Given the description of an element on the screen output the (x, y) to click on. 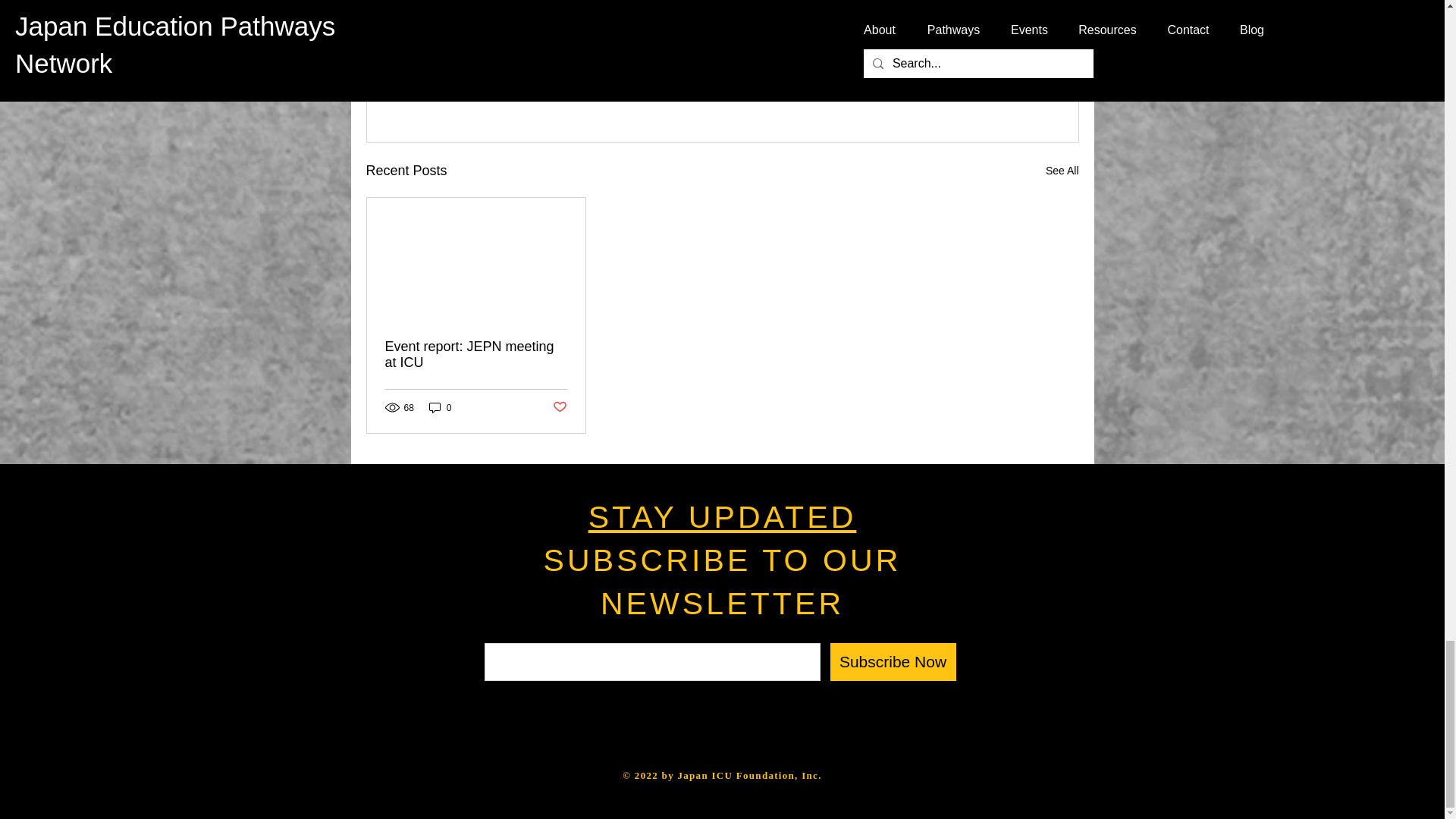
Event report: JEPN meeting at ICU (476, 355)
Post not marked as liked (995, 87)
0 (440, 407)
Post not marked as liked (558, 407)
See All (1061, 170)
Subscribe Now (892, 661)
